Given the description of an element on the screen output the (x, y) to click on. 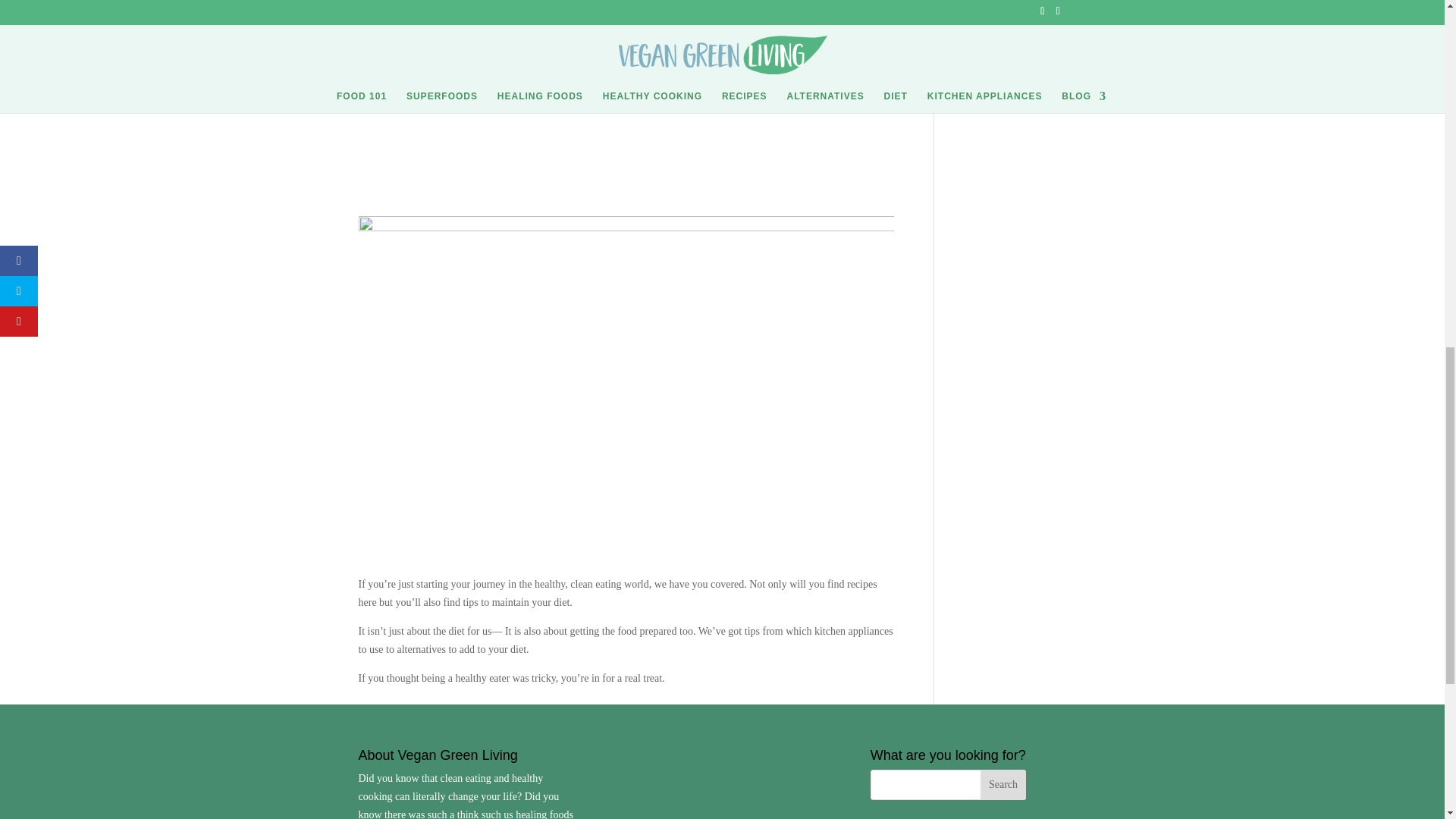
Search (1002, 784)
Search (1002, 784)
